Given the description of an element on the screen output the (x, y) to click on. 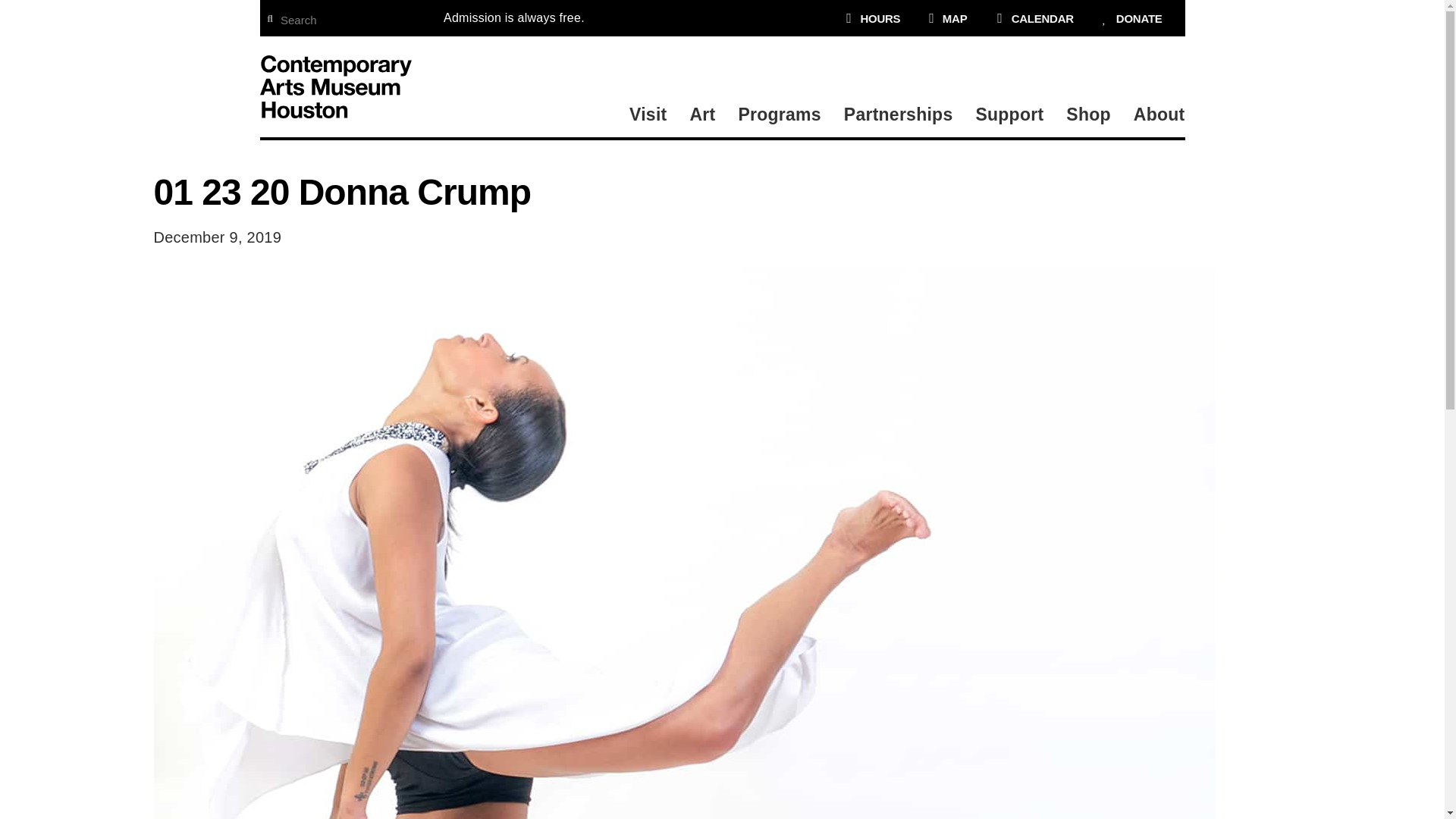
CAMH Logo Black (334, 86)
Search (352, 17)
